Given the description of an element on the screen output the (x, y) to click on. 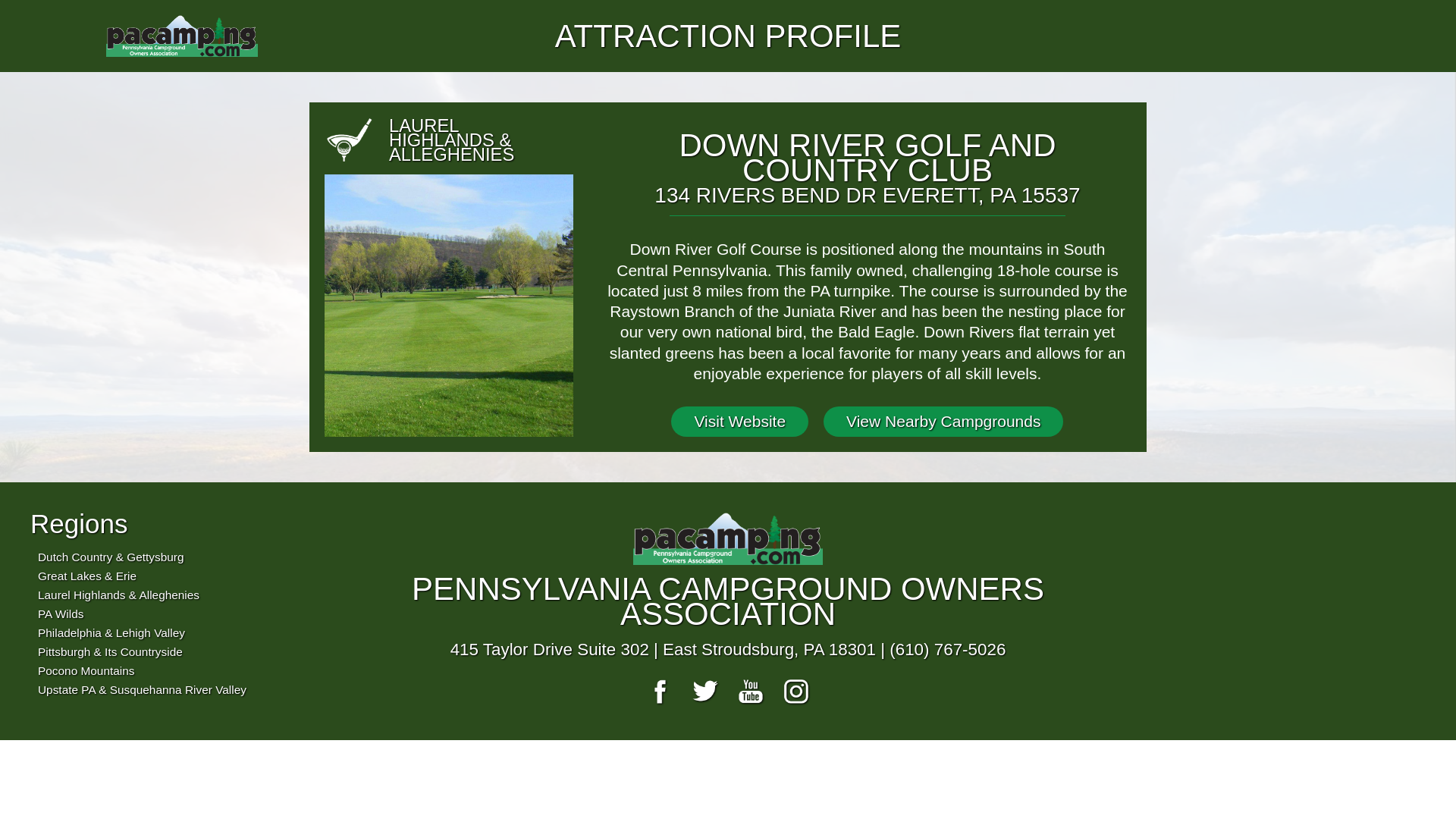
PA Wilds (59, 613)
Pocono Mountains (85, 670)
View Nearby Campgrounds (943, 421)
Visit Website (739, 421)
